Given the description of an element on the screen output the (x, y) to click on. 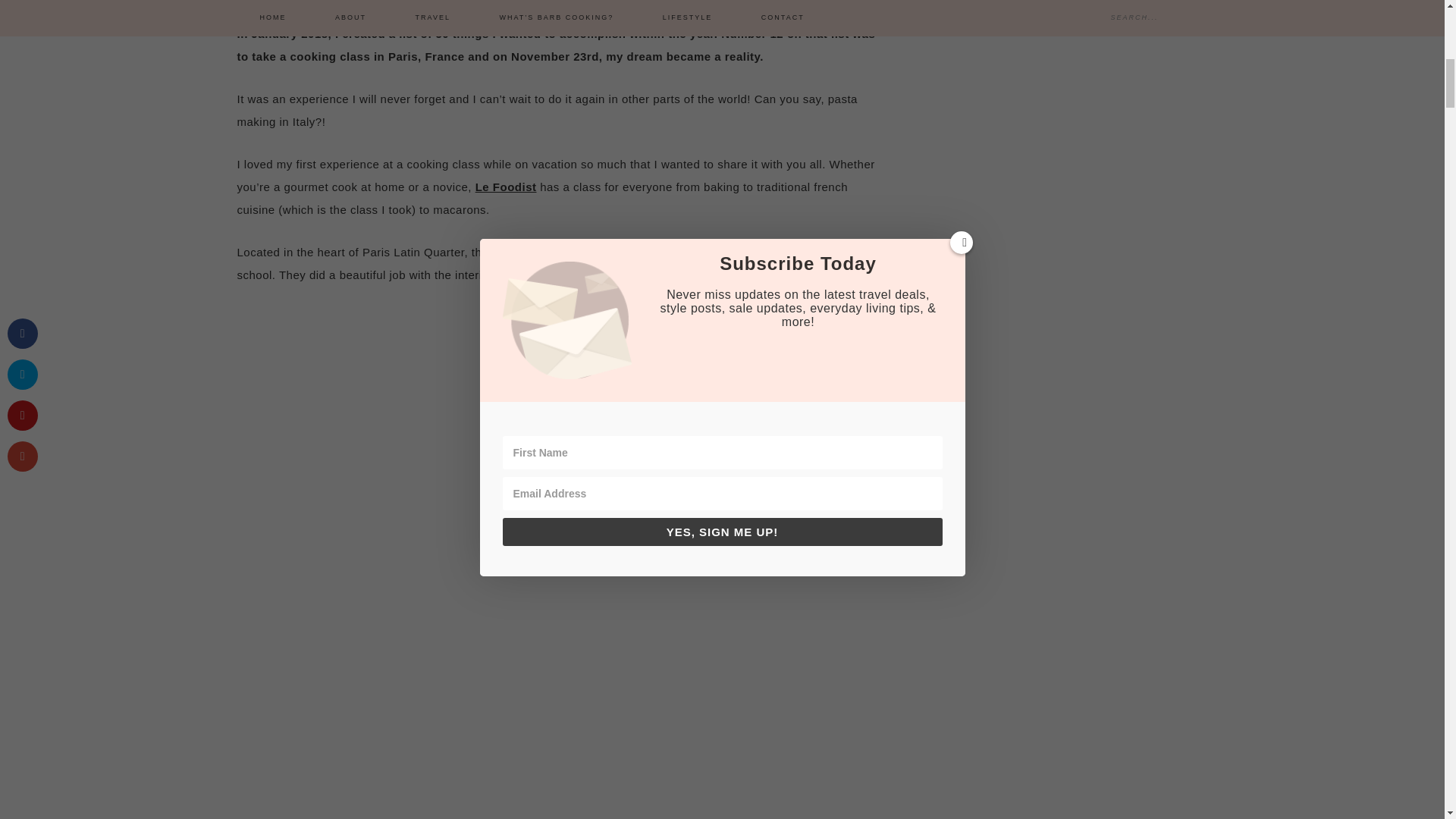
Le Foodist (506, 186)
